Given the description of an element on the screen output the (x, y) to click on. 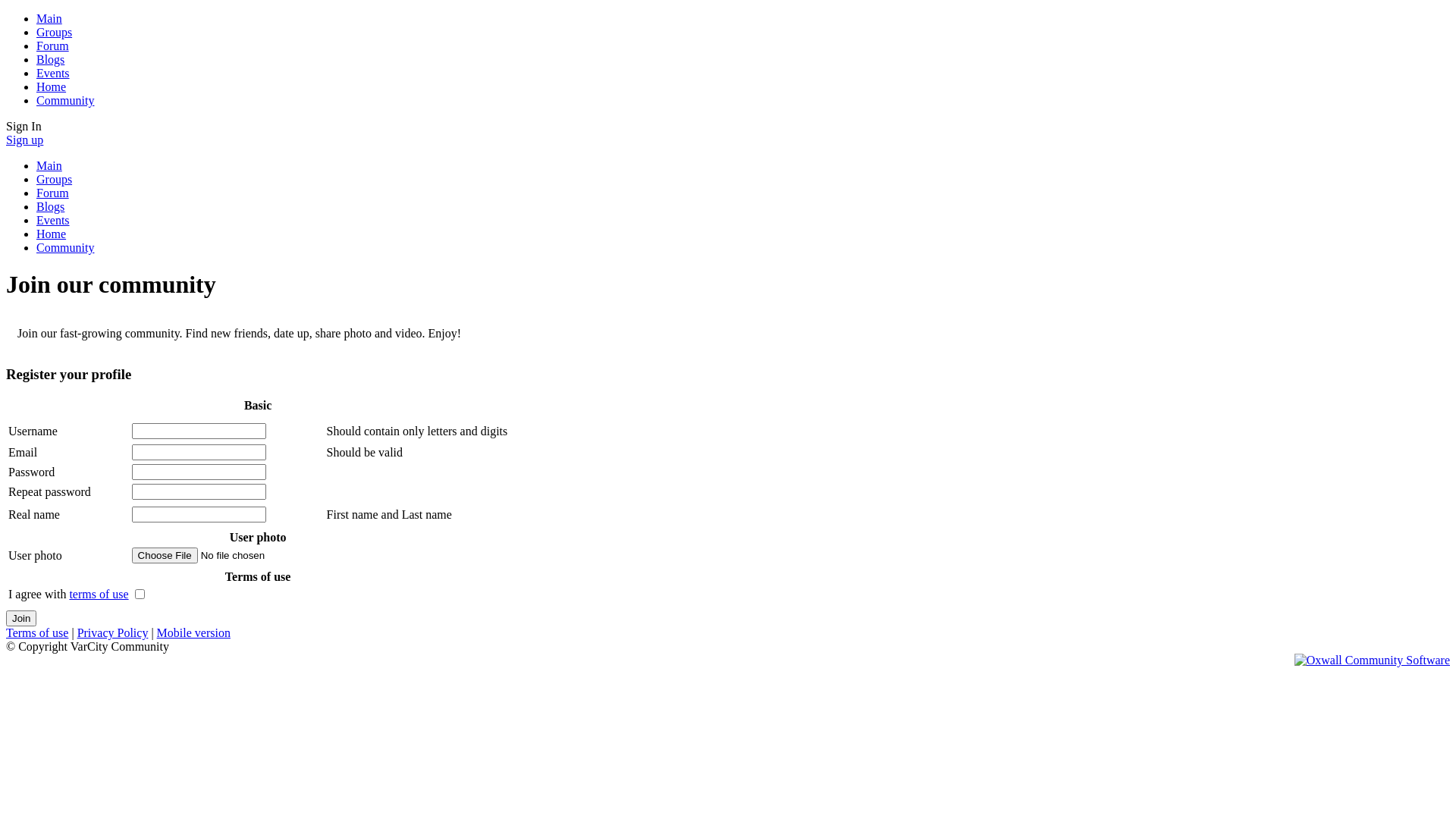
Join Element type: text (21, 618)
terms of use Element type: text (98, 593)
Home Element type: text (50, 233)
Terms of use Element type: text (37, 632)
Main Element type: text (49, 165)
Home Element type: text (50, 86)
Events Element type: text (52, 219)
Powered by Oxwall Community Software Element type: hover (1371, 659)
Privacy Policy Element type: text (112, 632)
Blogs Element type: text (50, 59)
Forum Element type: text (52, 192)
Community Element type: text (65, 100)
Community Element type: text (65, 247)
Forum Element type: text (52, 45)
Events Element type: text (52, 72)
Sign up Element type: text (24, 139)
Blogs Element type: text (50, 206)
Groups Element type: text (54, 178)
Groups Element type: text (54, 31)
Main Element type: text (49, 18)
Mobile version Element type: text (193, 632)
